Given the description of an element on the screen output the (x, y) to click on. 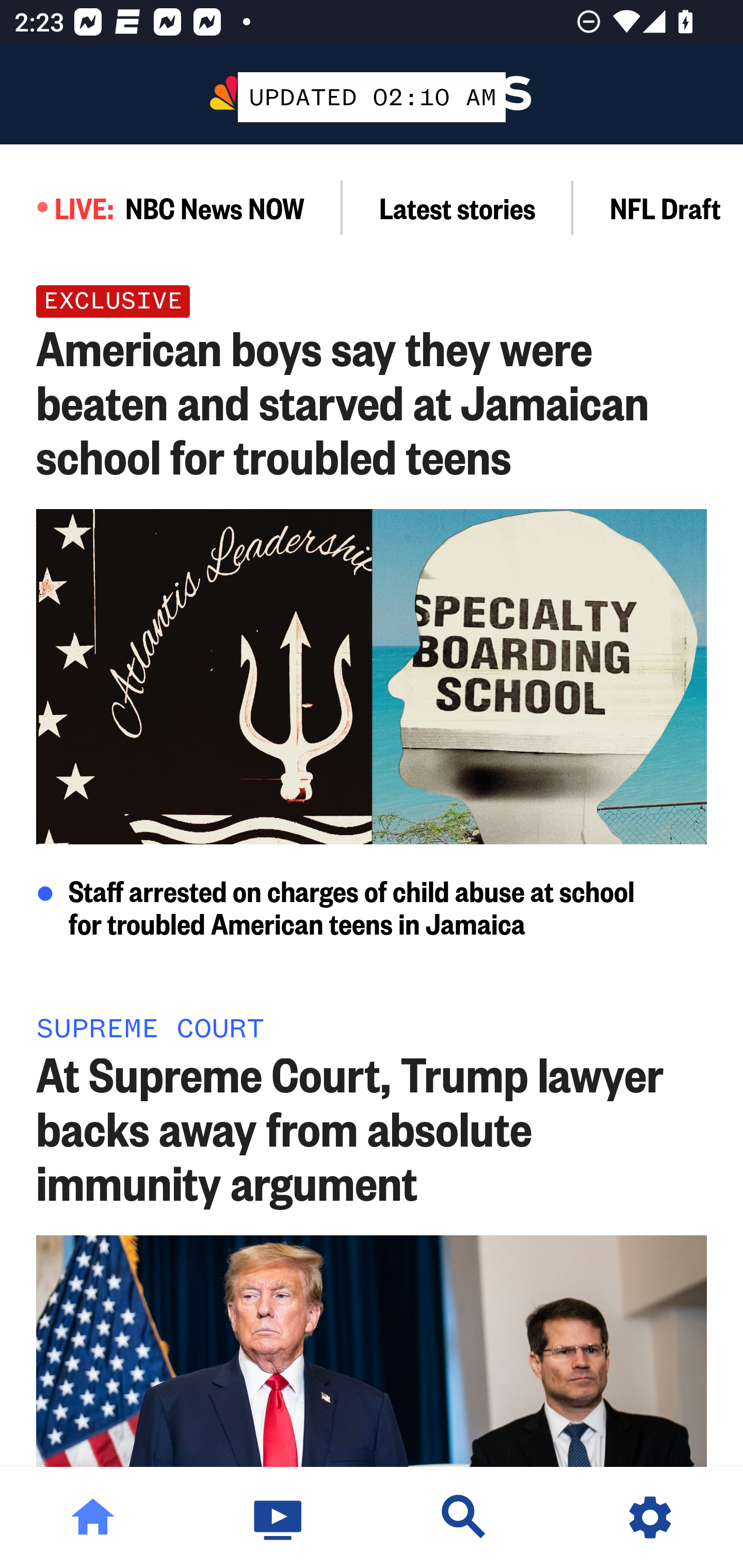
LIVE:  NBC News NOW (171, 207)
Latest stories Section,Latest stories (457, 207)
NFL Draft (658, 207)
Watch (278, 1517)
Discover (464, 1517)
Settings (650, 1517)
